Given the description of an element on the screen output the (x, y) to click on. 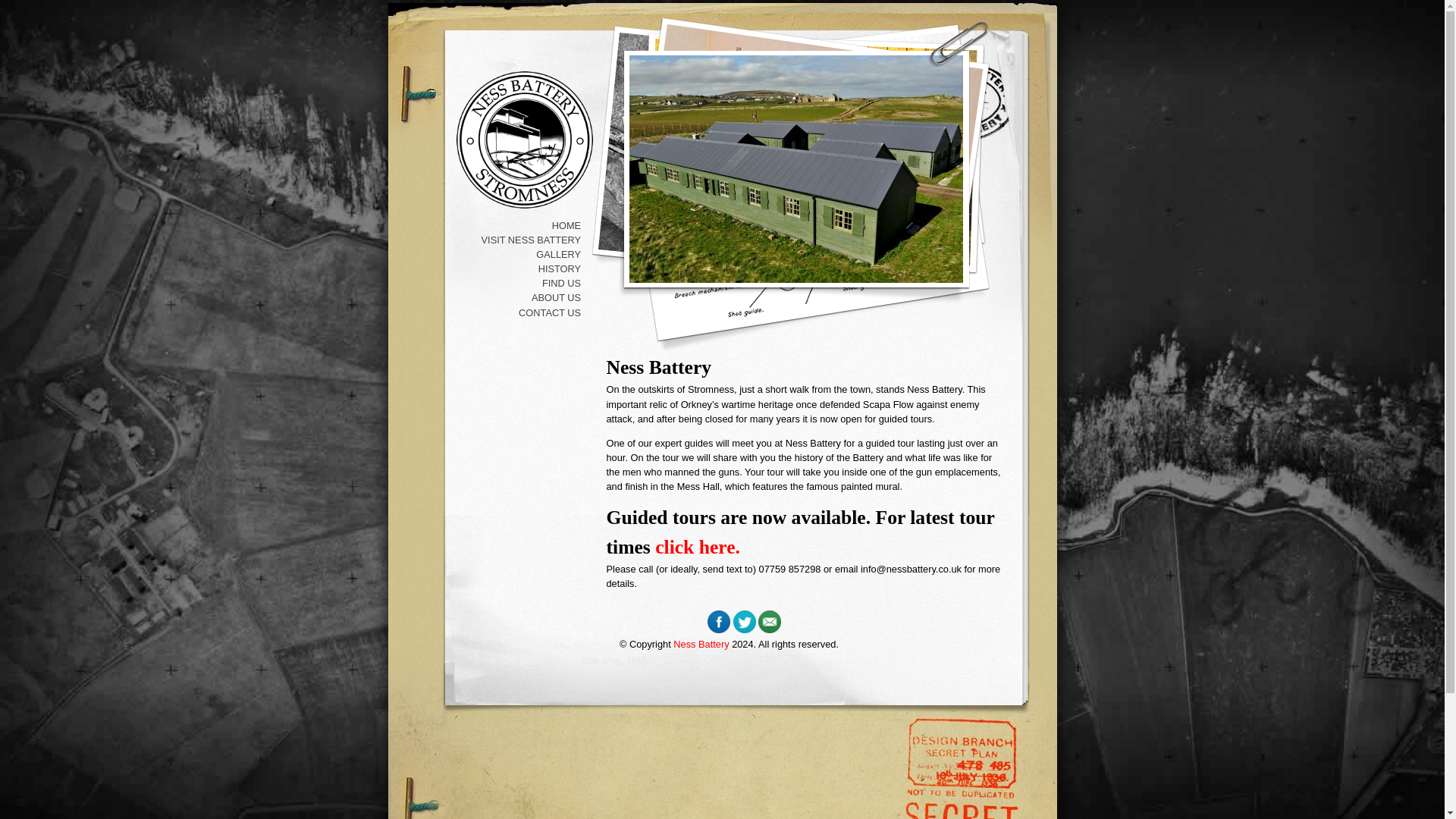
CONTACT US (521, 312)
ABOUT US (521, 297)
FIND US (521, 283)
click here. (697, 546)
VISIT NESS BATTERY (521, 239)
Ness Battery (700, 644)
HISTORY (521, 268)
GALLERY (521, 254)
HOME (521, 225)
Ness Battery (524, 139)
